Given the description of an element on the screen output the (x, y) to click on. 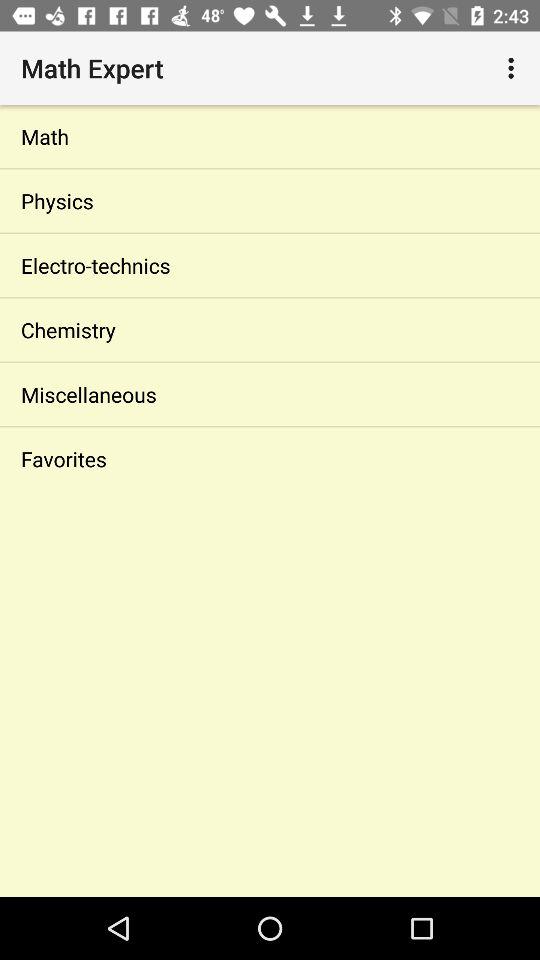
click the app below the chemistry (270, 394)
